Given the description of an element on the screen output the (x, y) to click on. 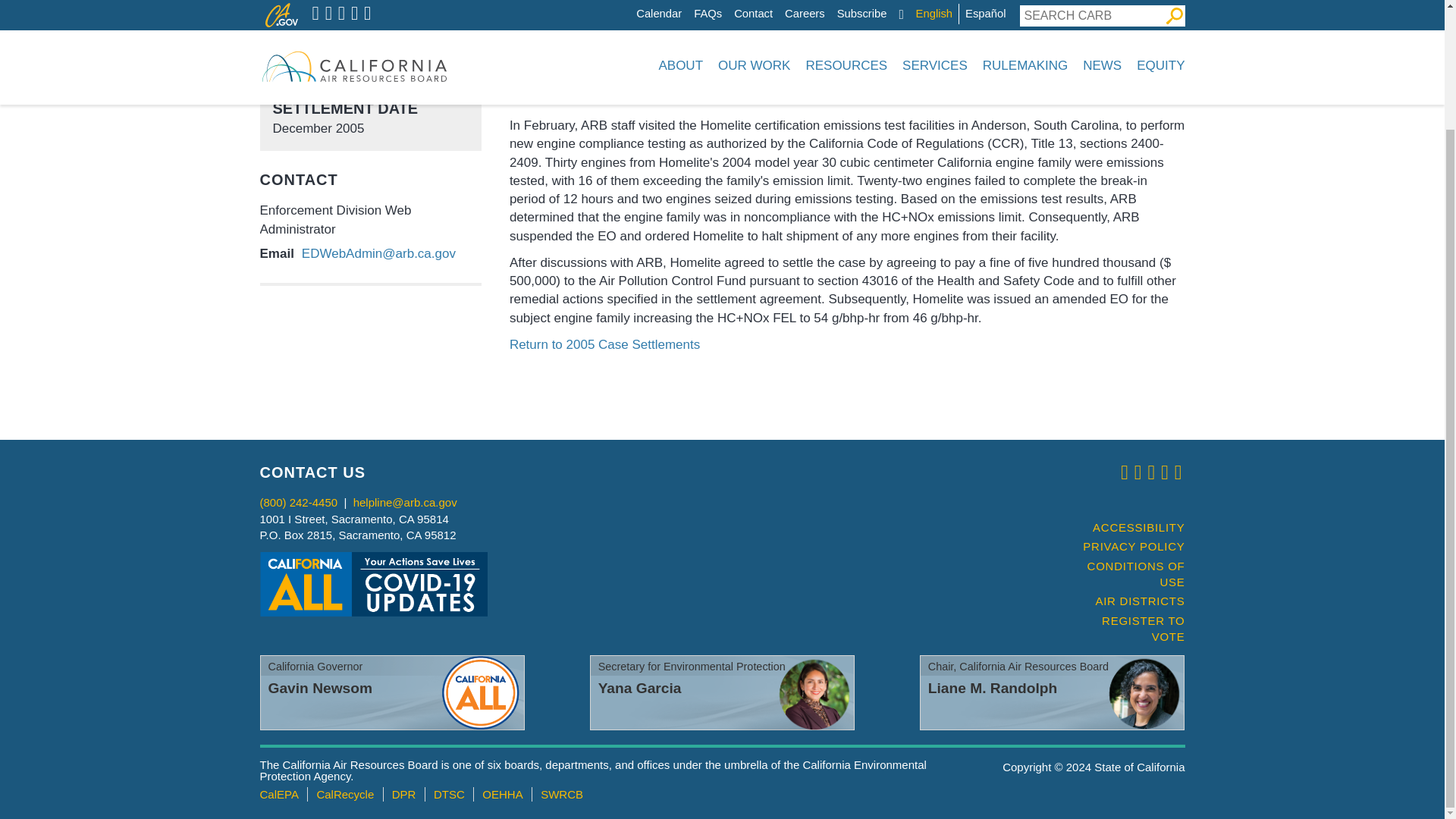
California Environmental Protection Agency (278, 794)
California online voter registration (1127, 628)
